Given the description of an element on the screen output the (x, y) to click on. 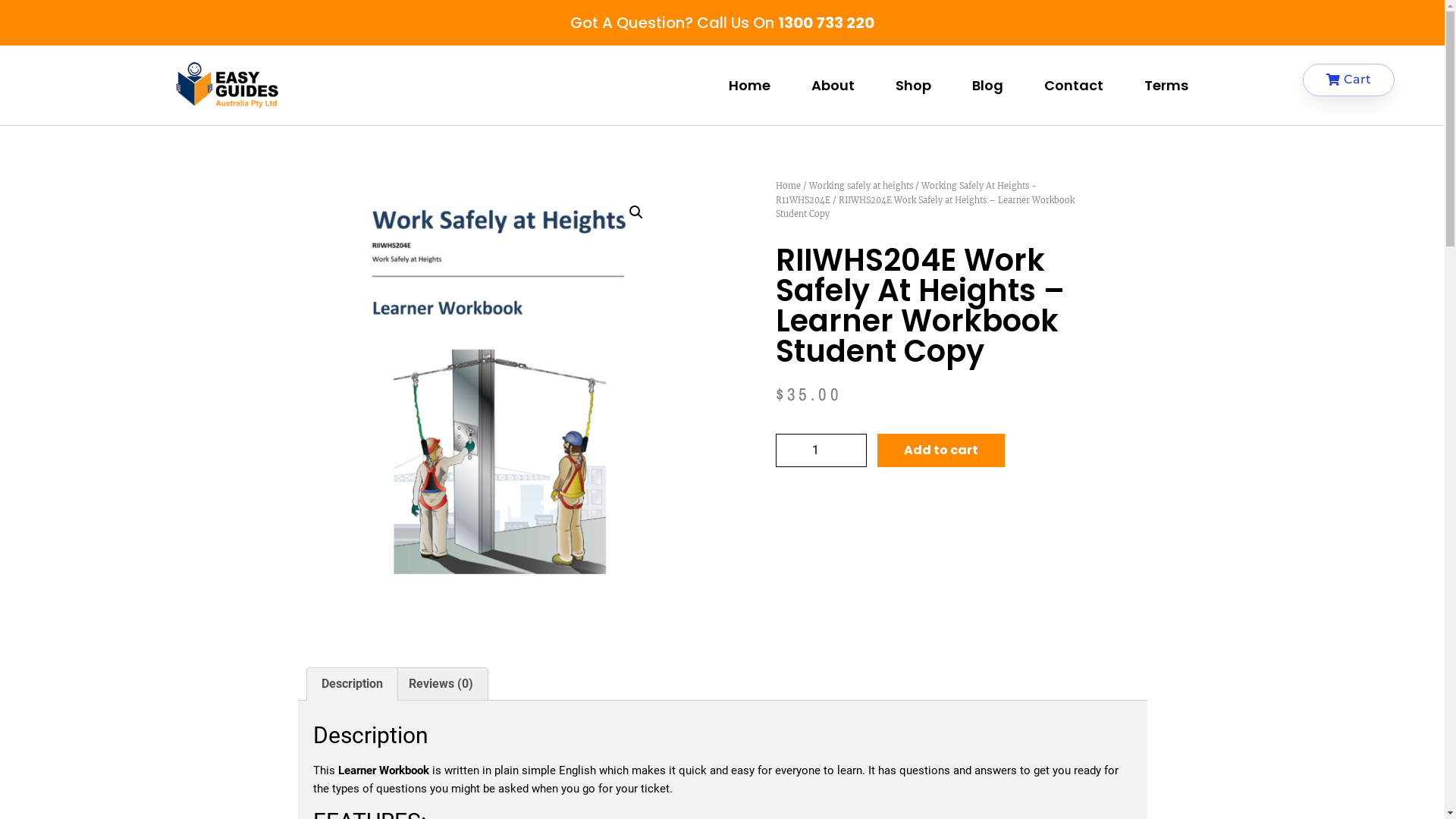
Home Element type: text (749, 85)
About Element type: text (832, 85)
Add to cart Element type: text (940, 450)
Blog Element type: text (986, 85)
Description Element type: text (351, 683)
Working safely at heights Element type: text (860, 185)
Working Safely At Heights - R11WHS204E Element type: text (905, 192)
Qty Element type: hover (820, 450)
Learner Workbook Student copy_RIIWHS204E-COVER Element type: hover (505, 403)
Reviews (0) Element type: text (440, 683)
Cart Element type: text (1348, 79)
Shop Element type: text (913, 85)
Terms Element type: text (1165, 85)
Contact Element type: text (1073, 85)
Home Element type: text (787, 185)
